Given the description of an element on the screen output the (x, y) to click on. 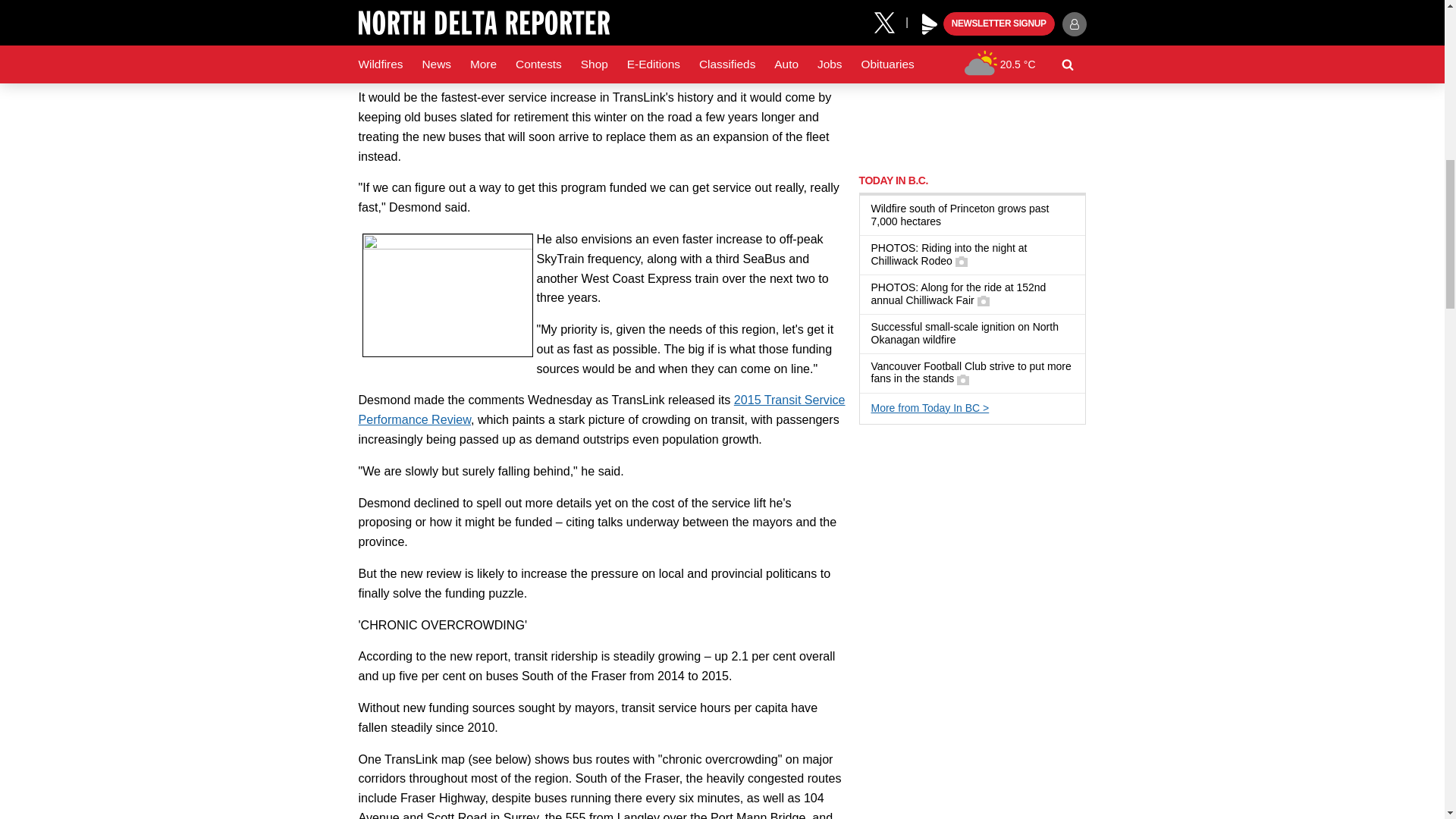
Has a gallery (961, 261)
Has a gallery (962, 379)
Has a gallery (983, 300)
